Given the description of an element on the screen output the (x, y) to click on. 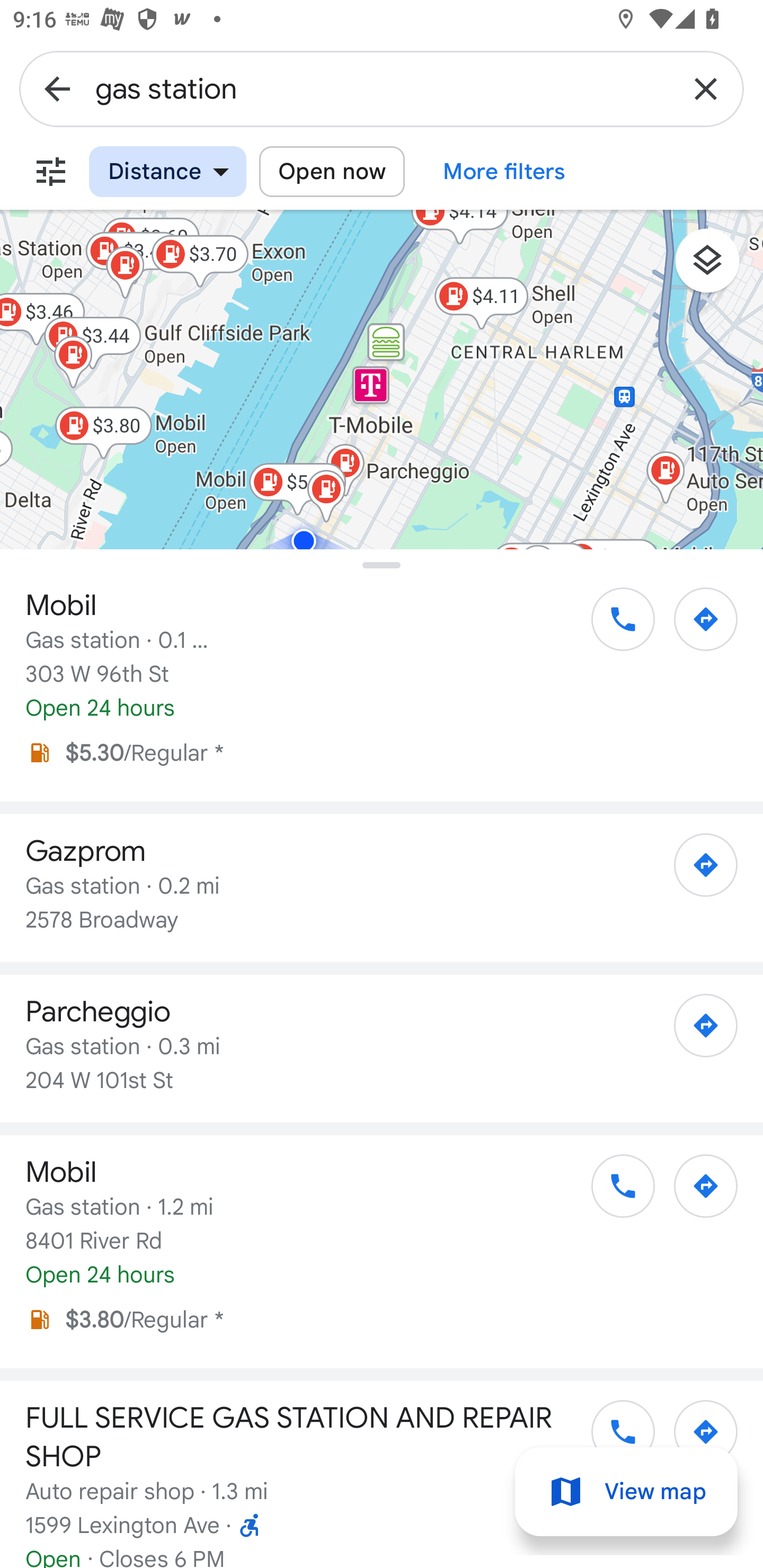
Back (57, 88)
gas station (381, 88)
Clear (705, 88)
More filters (50, 171)
Distance Distance Distance (167, 171)
Open now Open now Open now (332, 171)
More filters More filters More filters (504, 171)
Layers (716, 267)
Call Mobil, 303 W 96th St (613, 625)
Directions to Mobil, 303 W 96th St (695, 625)
Directions to Gazprom, 2578 Broadway (695, 870)
Directions to Parcheggio, 204 W 101st St (695, 1031)
Call Mobil, 8401 River Rd (613, 1192)
Directions to Mobil, 8401 River Rd (695, 1192)
View map Map view (626, 1491)
